Given the description of an element on the screen output the (x, y) to click on. 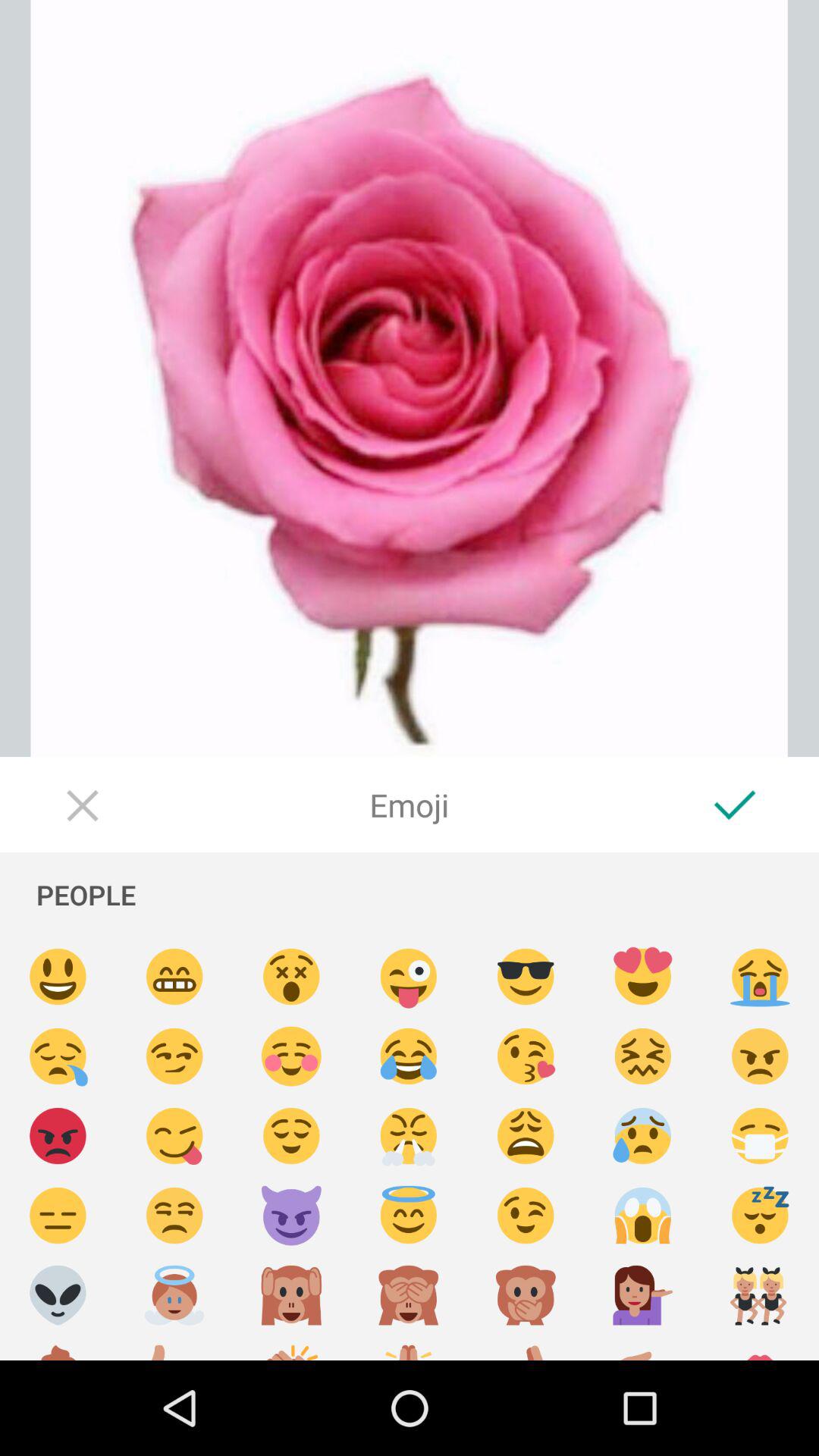
see no evil monkey (408, 1295)
